Given the description of an element on the screen output the (x, y) to click on. 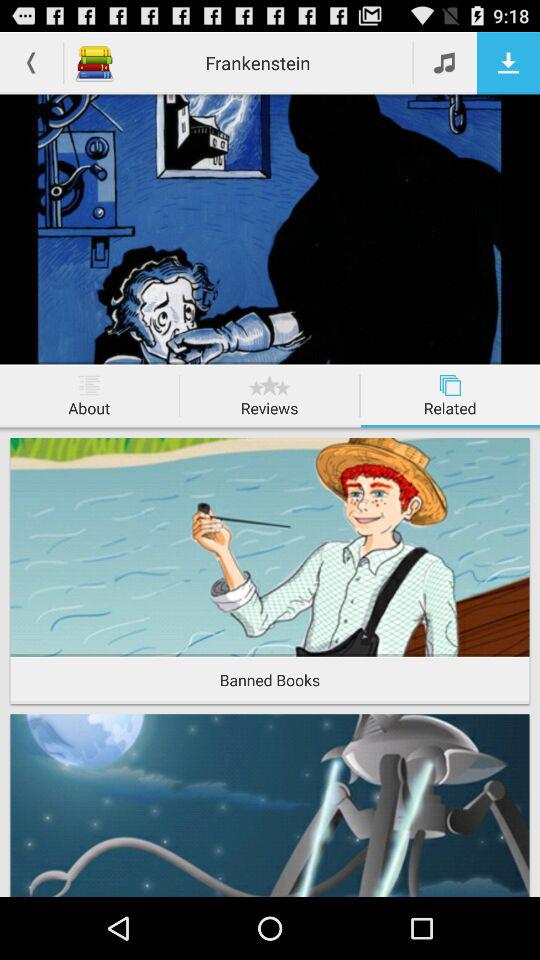
download (508, 62)
